Given the description of an element on the screen output the (x, y) to click on. 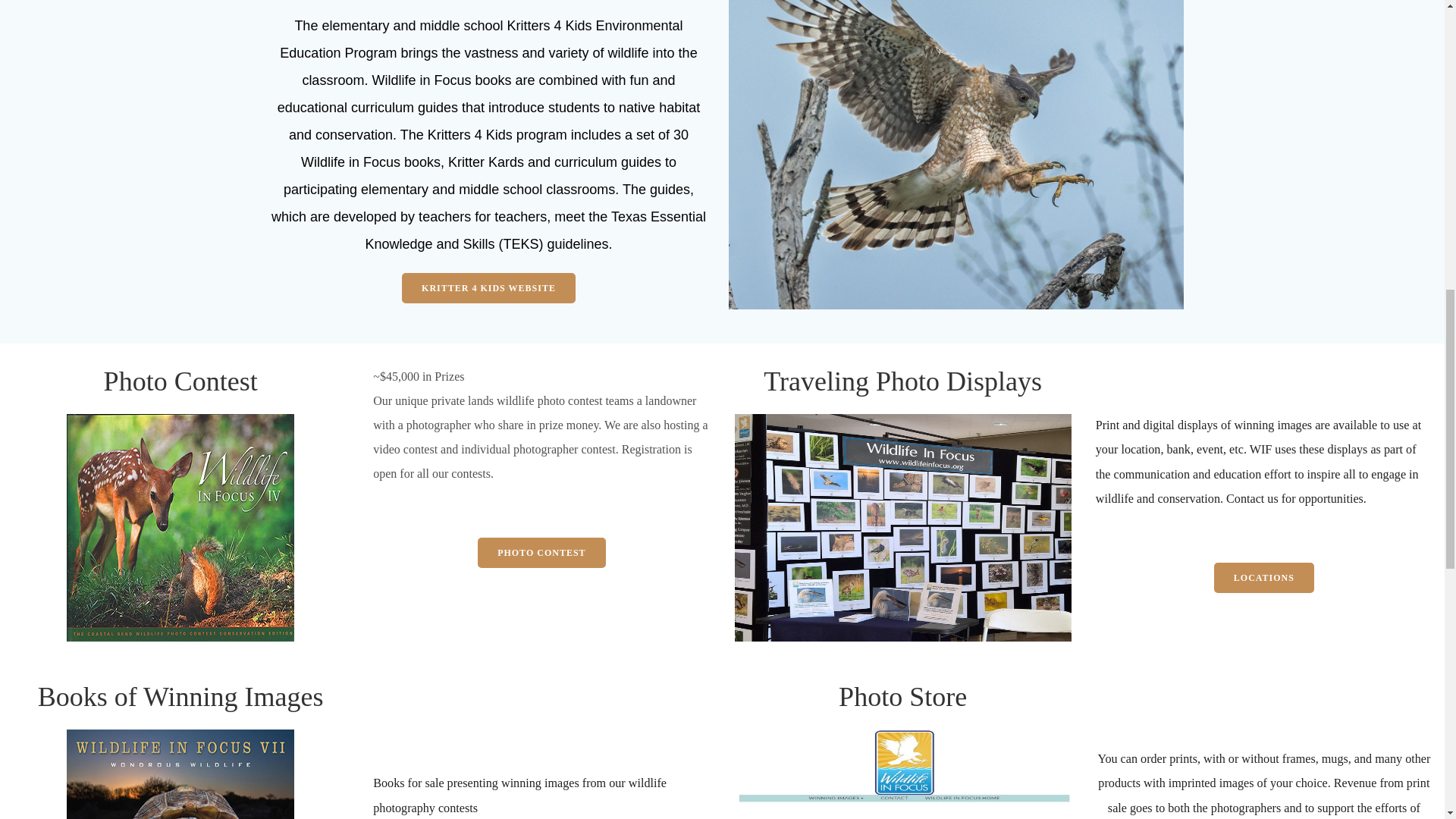
LOCATIONS (1264, 577)
PHOTO CONTEST (541, 552)
KRITTER 4 KIDS WEBSITE (488, 287)
